Given the description of an element on the screen output the (x, y) to click on. 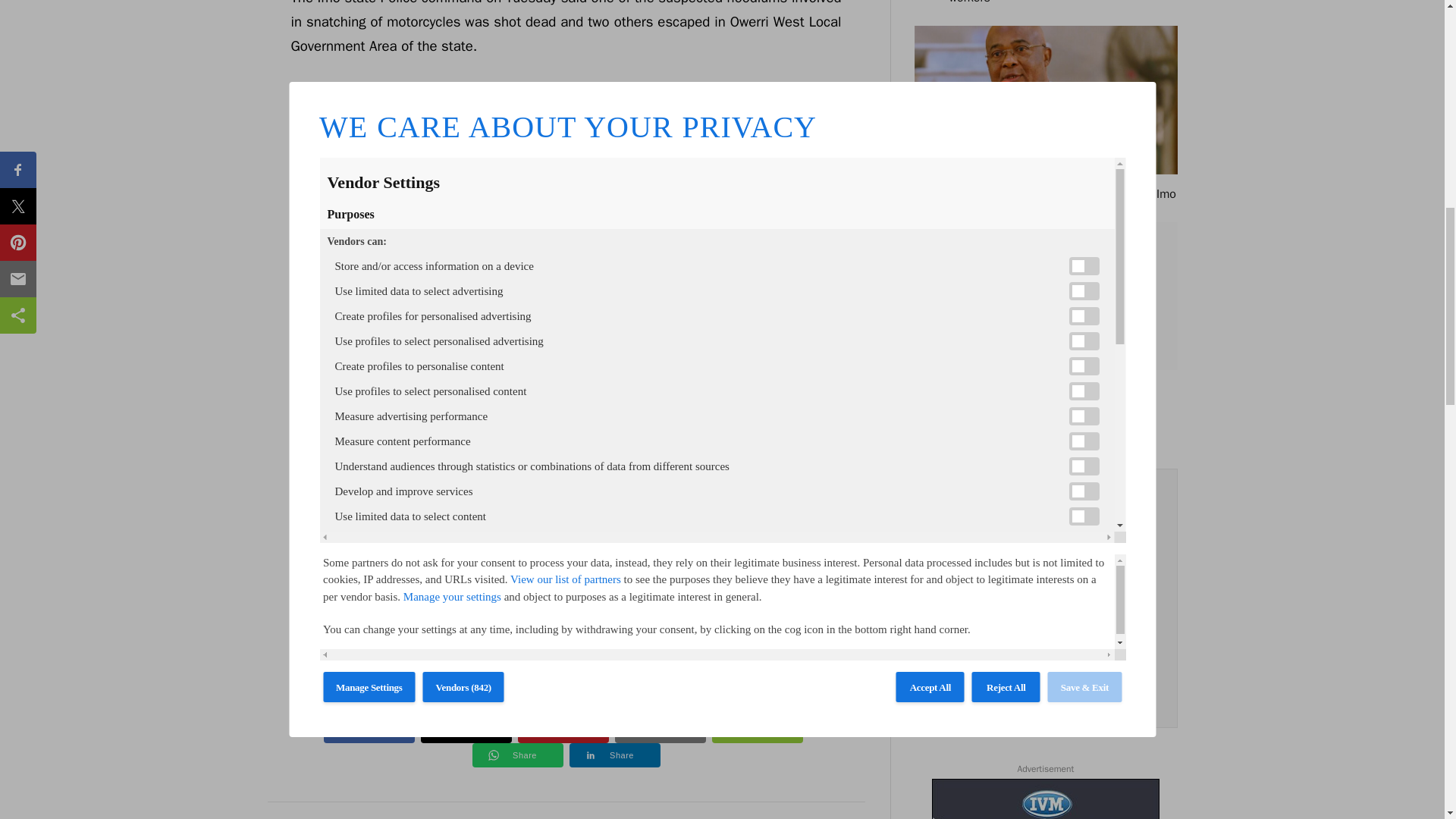
on (947, 678)
Subscribe (1045, 641)
